Given the description of an element on the screen output the (x, y) to click on. 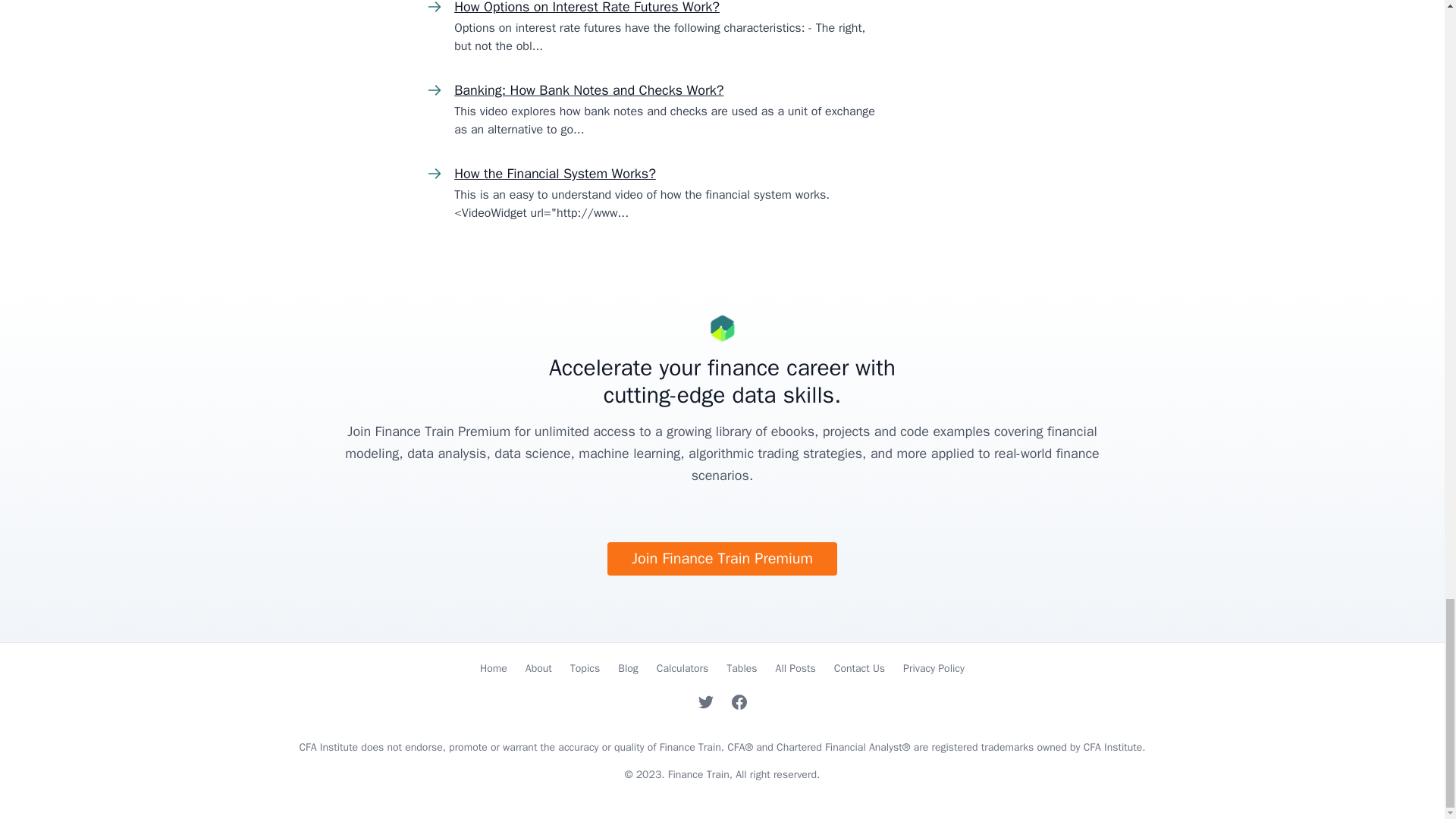
Banking: How Bank Notes and Checks Work? (588, 89)
How the Financial System Works? (555, 173)
How Options on Interest Rate Futures Work? (586, 7)
